Given the description of an element on the screen output the (x, y) to click on. 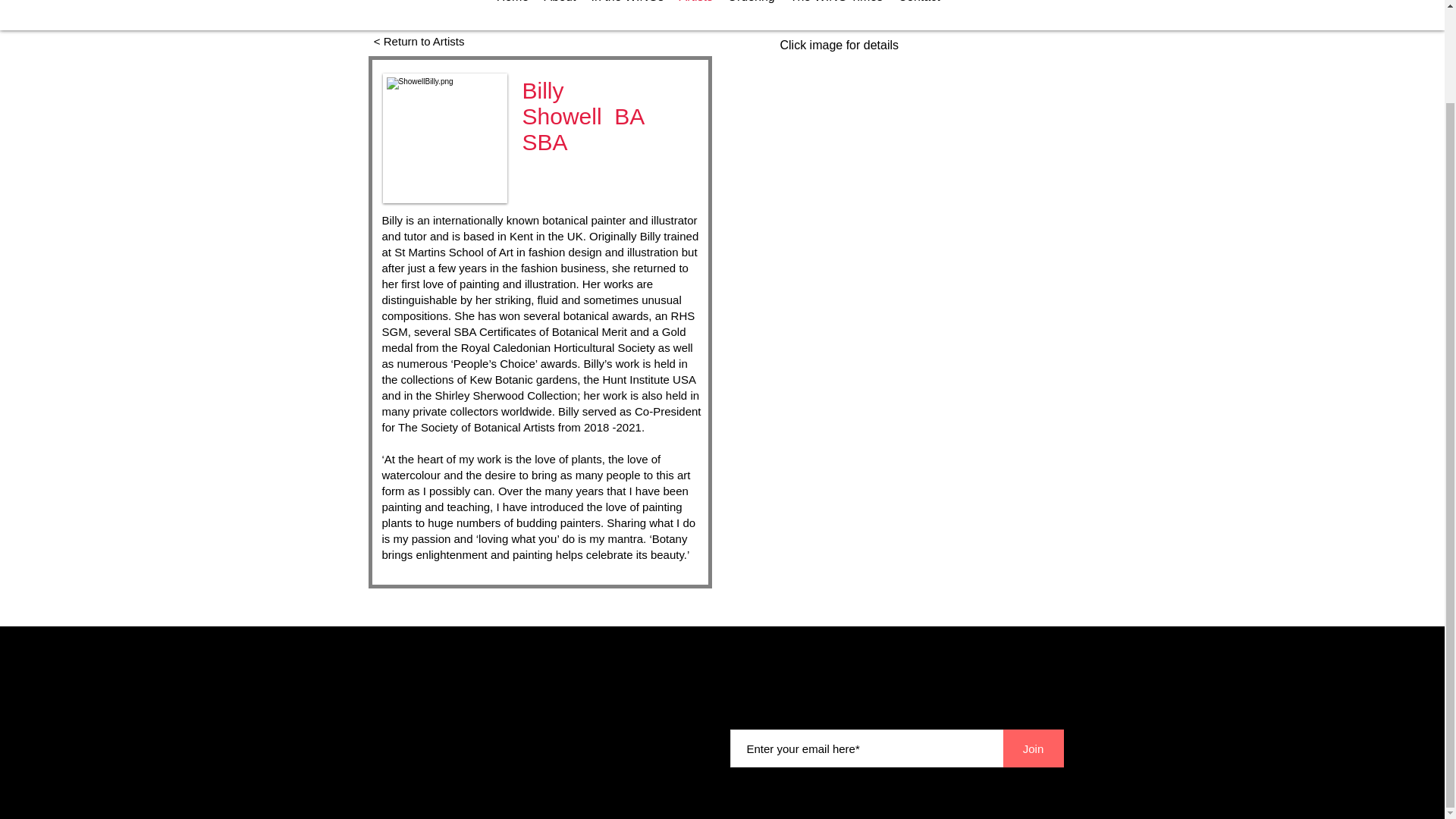
Contact (918, 9)
About (560, 9)
Artists (695, 9)
Ordering (751, 9)
Home (511, 9)
The WING Times (837, 9)
In the WINGs (627, 9)
Celia Allen   photo.jpg (443, 138)
Join (1032, 748)
